Given the description of an element on the screen output the (x, y) to click on. 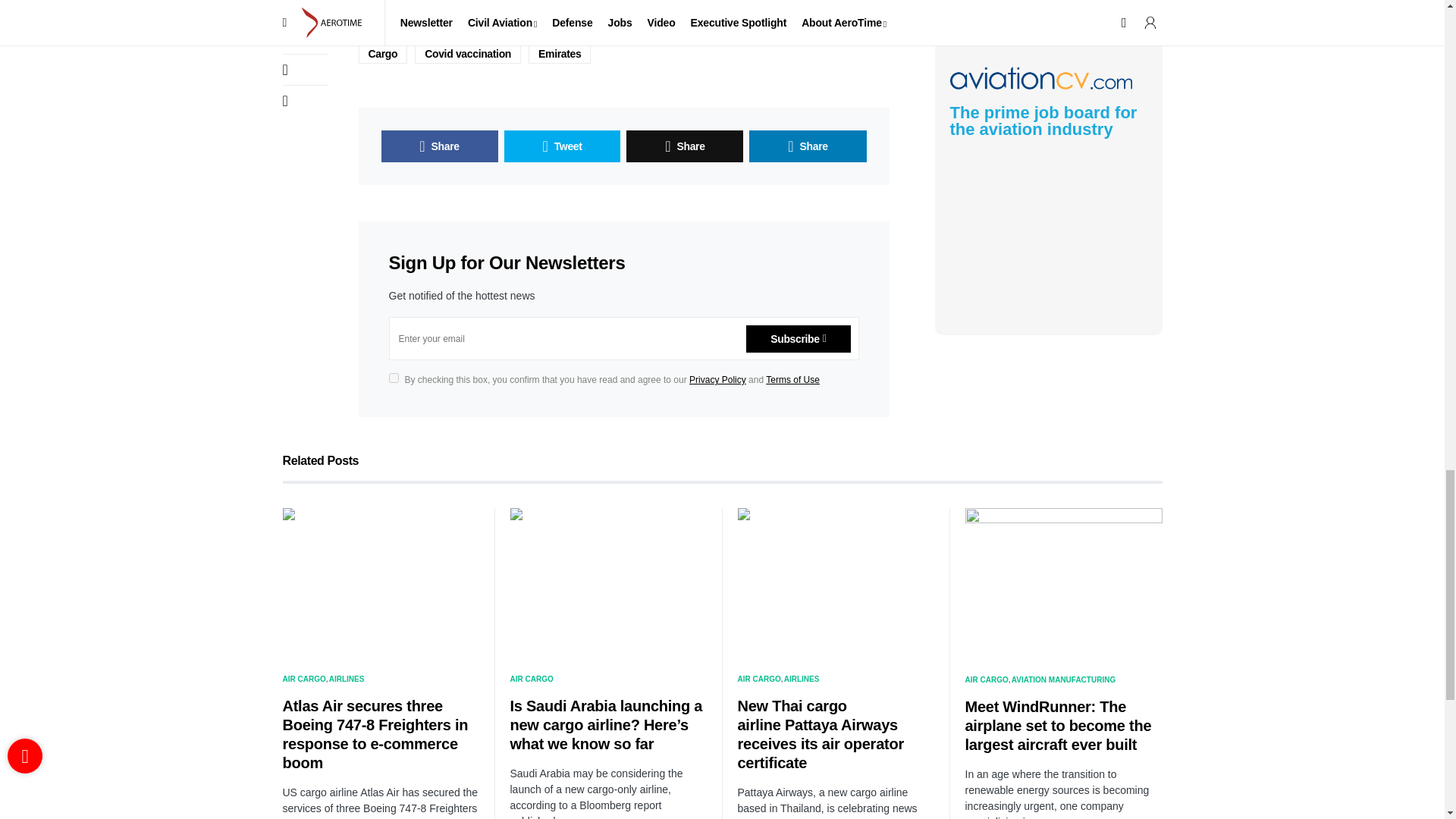
on (392, 378)
